Given the description of an element on the screen output the (x, y) to click on. 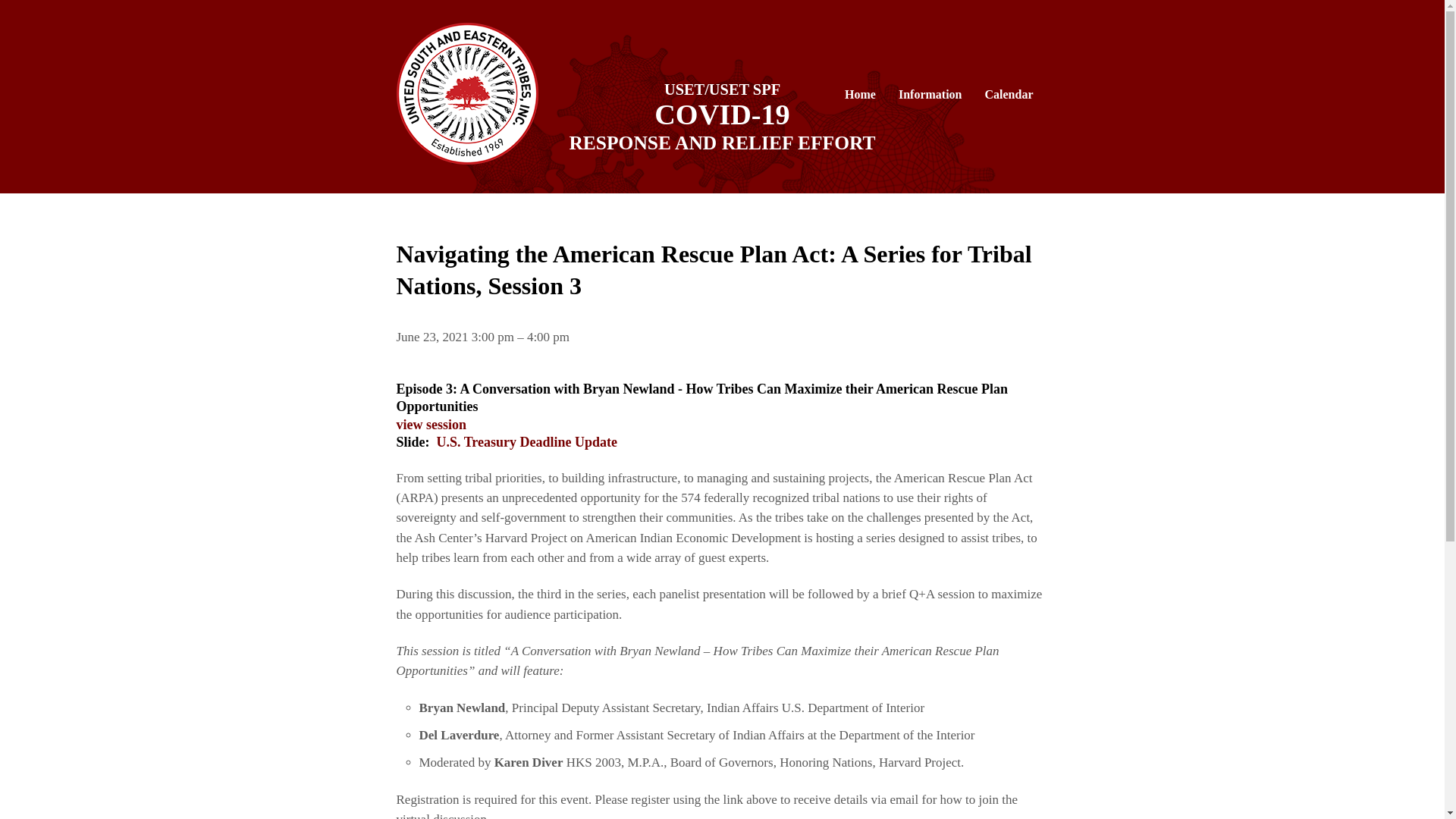
2021-06-23T16:00:00-05:00 (548, 336)
2021-06-23T15:00:00-05:00 (492, 336)
U.S. Treasury Deadline Update (526, 441)
Information (930, 94)
view session (430, 424)
Calendar (1008, 94)
Home (860, 94)
2021-06-23T15:00:00-05:00 (433, 336)
